Given the description of an element on the screen output the (x, y) to click on. 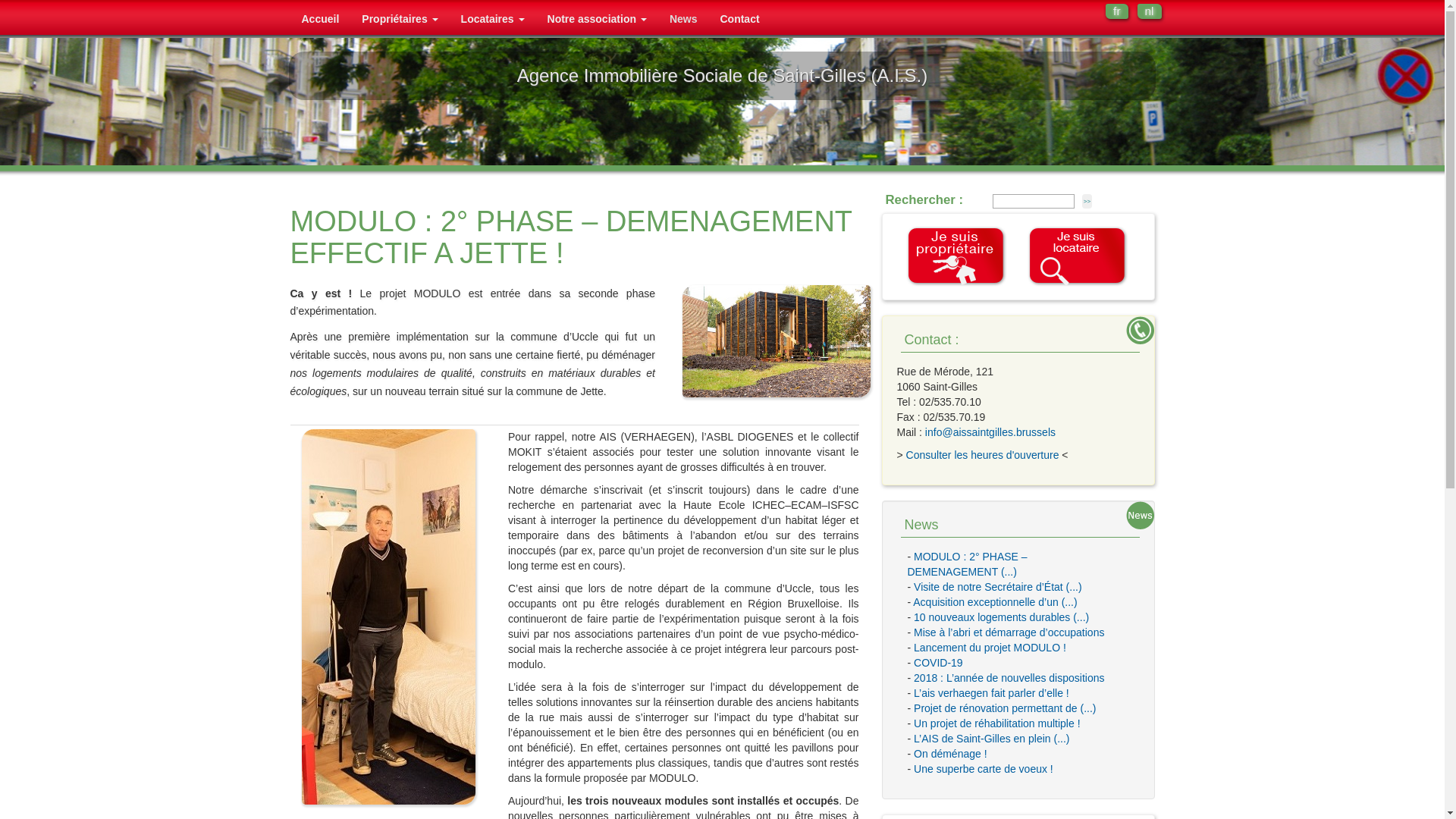
Louer mon bien immobilier Element type: hover (956, 255)
Locataires Element type: text (492, 18)
Une superbe carte de voeux ! Element type: text (983, 768)
Accueil Element type: text (319, 18)
>> Element type: text (1087, 201)
News Element type: text (920, 524)
Consulter les heures d'ouverture Element type: text (982, 454)
COVID-19 Element type: text (938, 662)
Contact Element type: text (739, 18)
nl Element type: text (1149, 10)
info@aissaintgilles.brussels Element type: text (990, 432)
News Element type: text (683, 18)
10 nouveaux logements durables (...) Element type: text (1000, 617)
Rechercher Element type: hover (1087, 201)
fr Element type: text (1116, 10)
Notre association Element type: text (597, 18)
Lancement du projet MODULO ! Element type: text (989, 647)
